Given the description of an element on the screen output the (x, y) to click on. 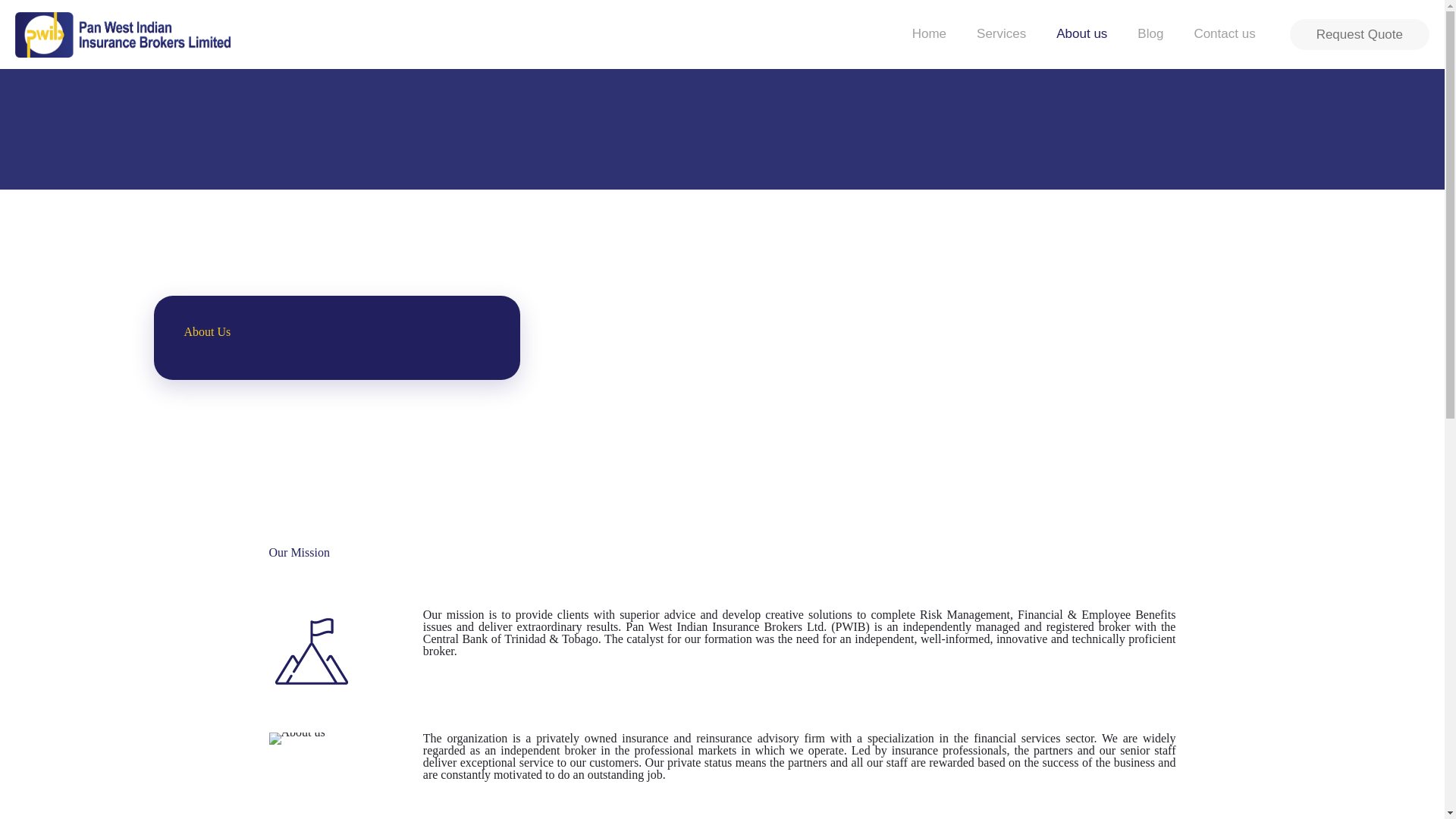
Request Quote (1359, 33)
Home (928, 33)
About us (1081, 33)
Pan West Indian Insurance Brokers Limited (122, 33)
Contact us (1223, 33)
Services (1000, 33)
